Given the description of an element on the screen output the (x, y) to click on. 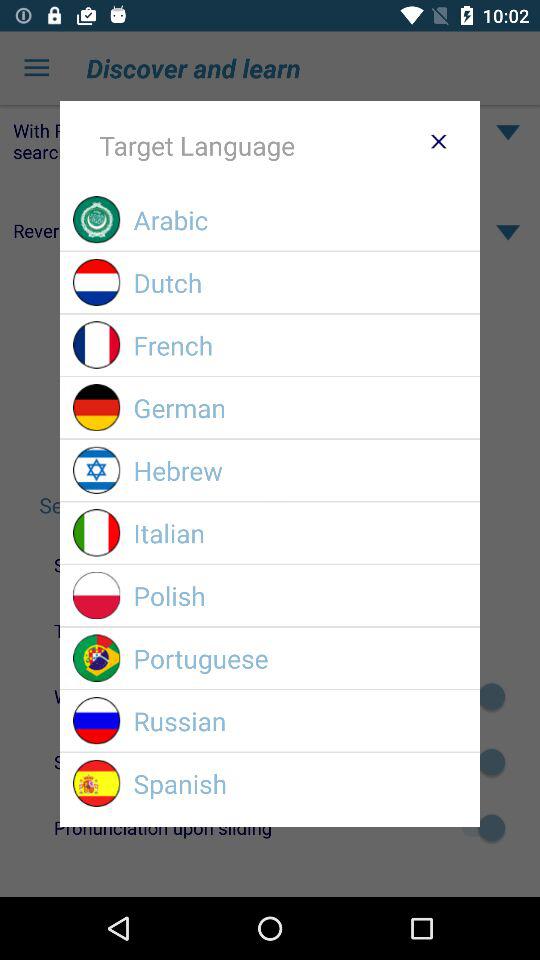
turn off item above the dutch icon (300, 219)
